Given the description of an element on the screen output the (x, y) to click on. 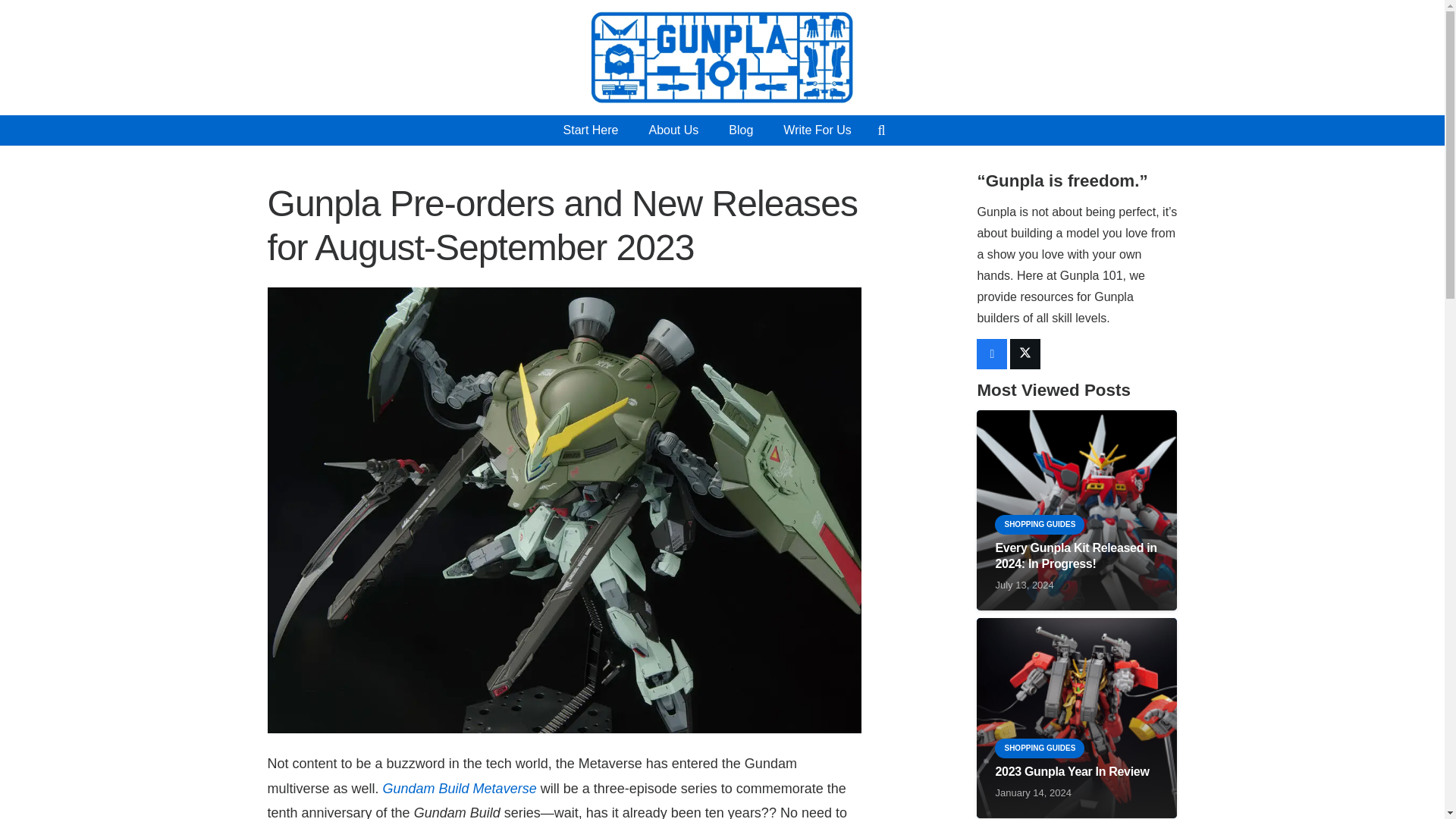
Gundam Build Metaverse (459, 788)
About Us (673, 130)
Facebook (991, 354)
Every Gunpla Kit Released in 2024: In Progress! (1075, 555)
Twitter (1025, 354)
2023 Gunpla Year In Review (1071, 771)
Blog (740, 130)
Start Here (590, 130)
SHOPPING GUIDES (1039, 524)
Write For Us (817, 130)
